Given the description of an element on the screen output the (x, y) to click on. 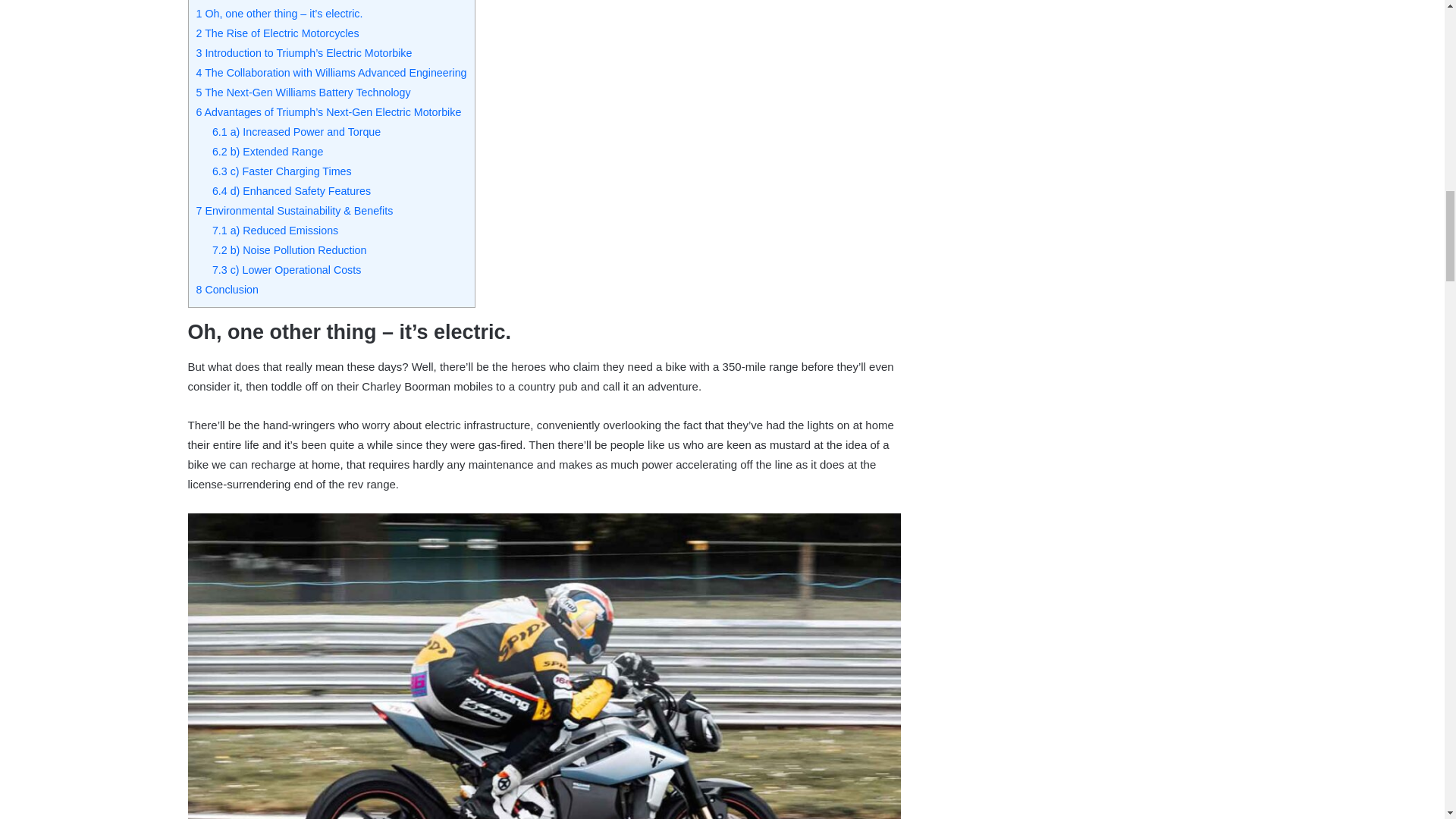
2 The Rise of Electric Motorcycles (276, 33)
